Given the description of an element on the screen output the (x, y) to click on. 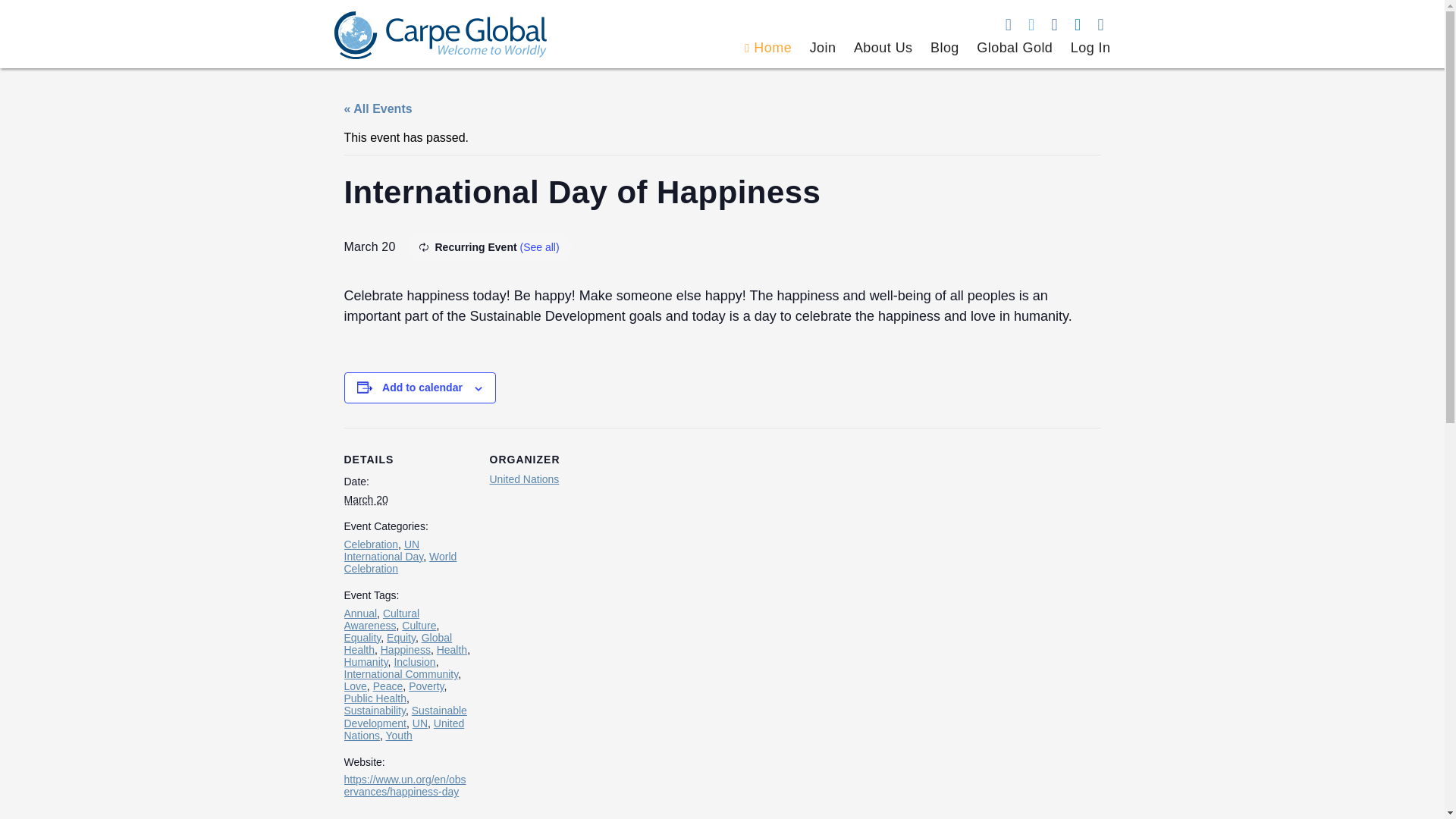
Equity (400, 637)
United Nations (524, 479)
Culture (418, 625)
Peace (387, 686)
UN International Day (383, 550)
Cultural Awareness (381, 619)
Inclusion (414, 662)
Global Health (397, 643)
Celebration (370, 544)
Health (451, 649)
Sustainability (374, 710)
Happiness (405, 649)
International Community (400, 674)
Poverty (426, 686)
Humanity (365, 662)
